Given the description of an element on the screen output the (x, y) to click on. 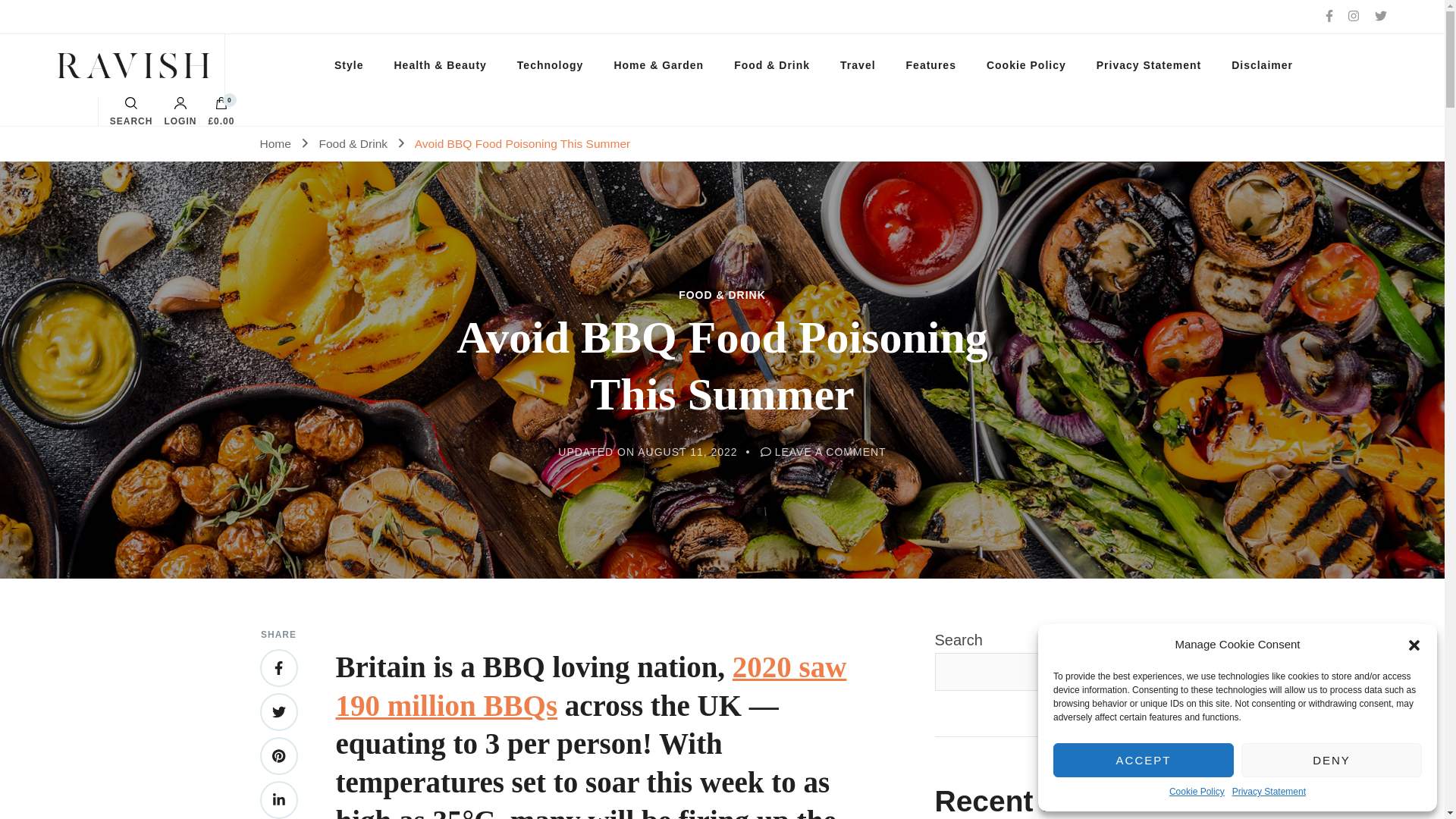
Disclaimer (1261, 65)
Travel (857, 65)
Privacy Statement (1268, 792)
ACCEPT (1142, 759)
Ravish Magazine (113, 64)
DENY (1331, 759)
Search (915, 417)
Features (931, 65)
Technology (550, 65)
Cookie Policy (1196, 792)
